Given the description of an element on the screen output the (x, y) to click on. 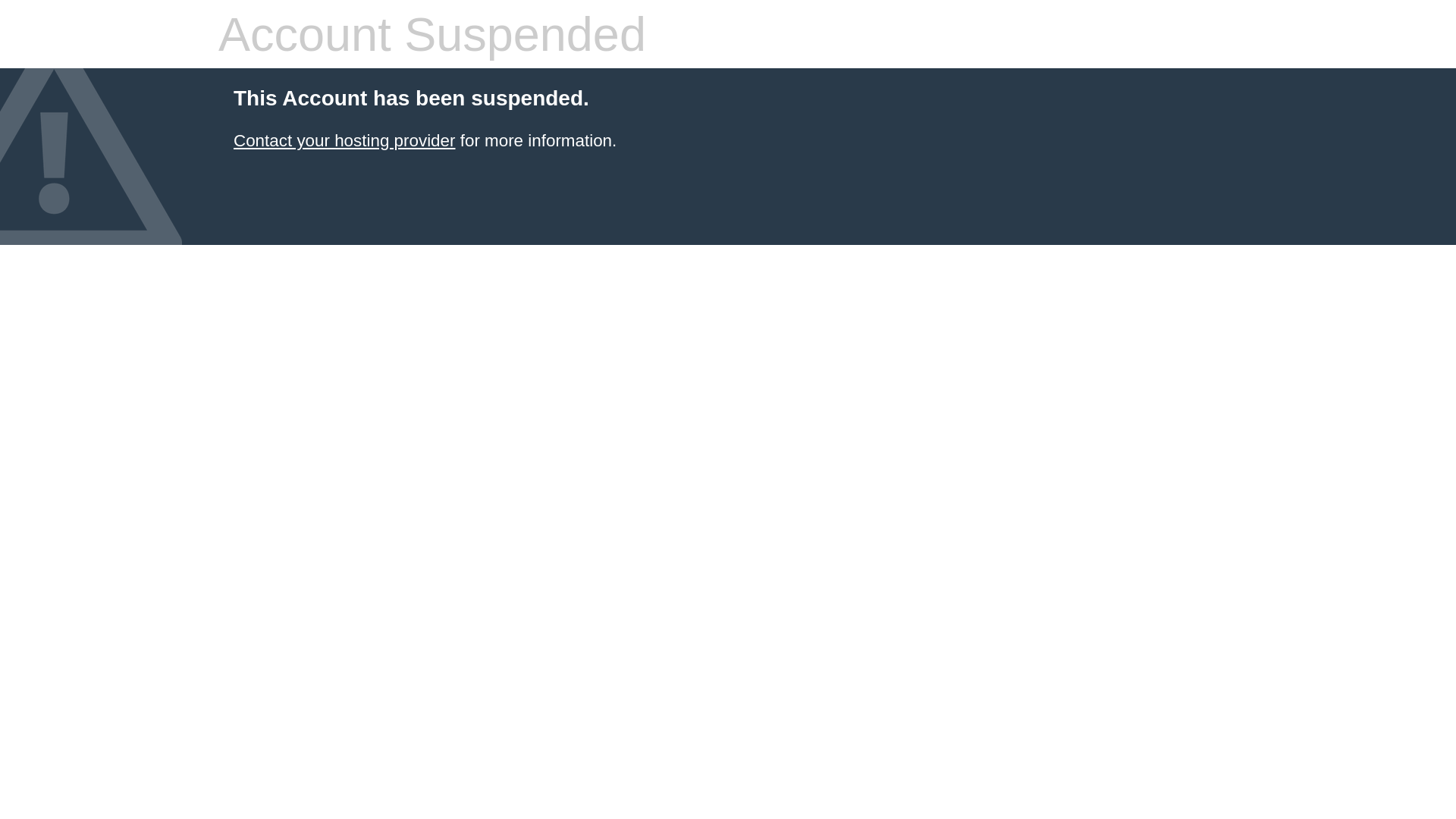
Contact your hosting provider Element type: text (344, 140)
